Given the description of an element on the screen output the (x, y) to click on. 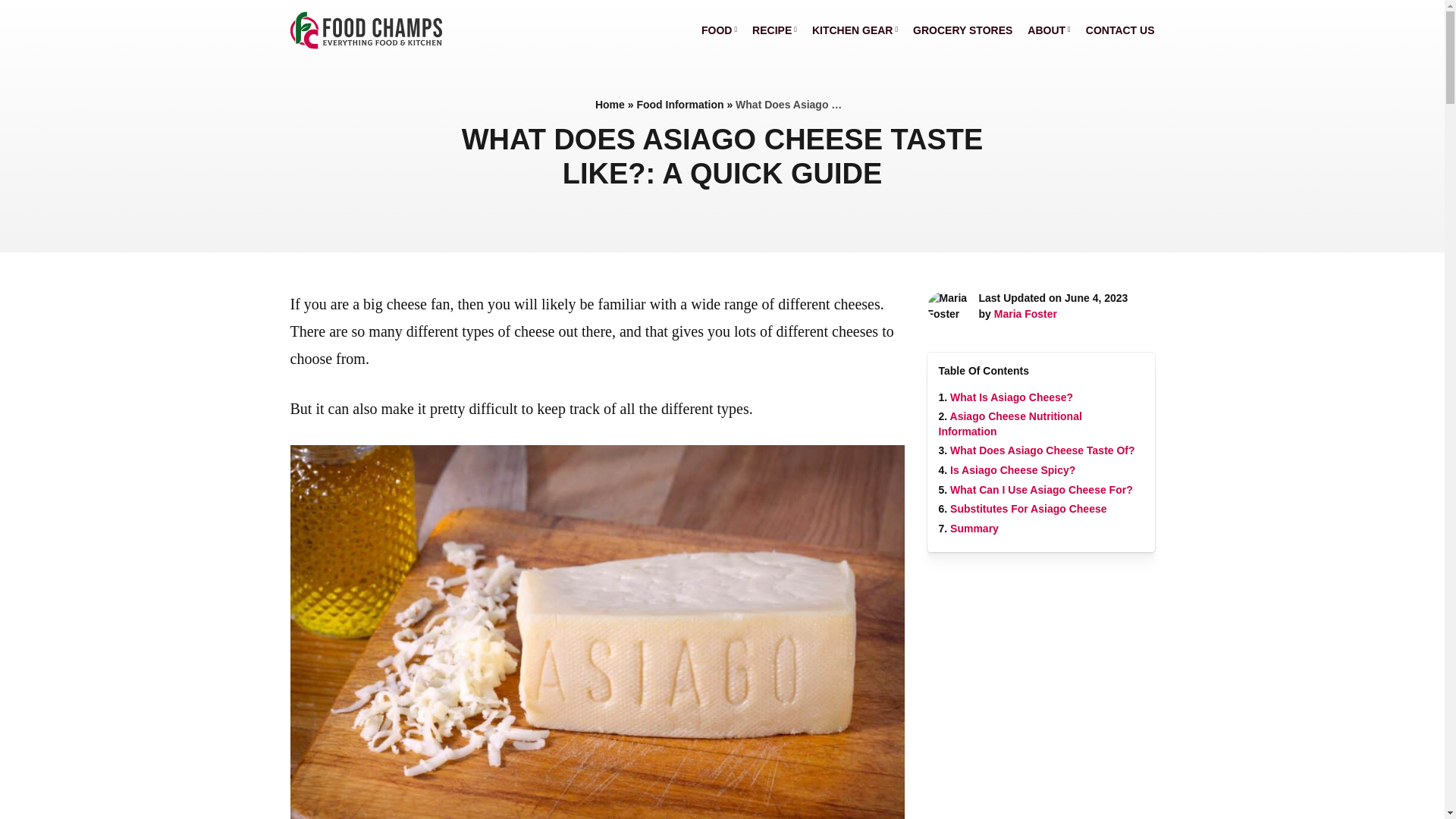
GROCERY STORES (961, 30)
CONTACT US (1120, 30)
KITCHEN GEAR (855, 30)
